Given the description of an element on the screen output the (x, y) to click on. 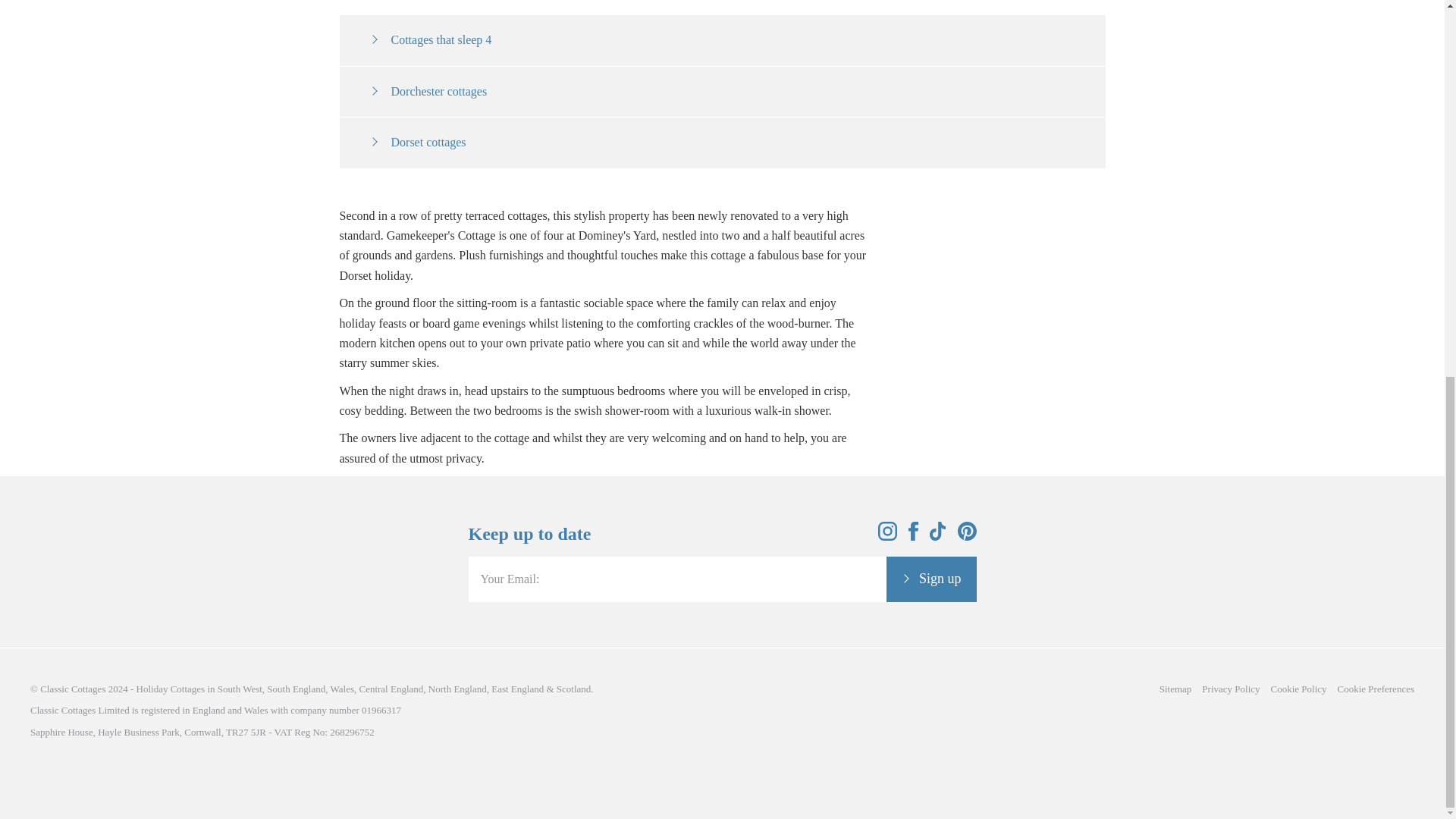
Follow Classic Cottages Pinterest (965, 535)
Follow Classic Cottages Tik Tok (938, 535)
North England (457, 688)
South West (239, 688)
Cottages that sleep 4 (430, 39)
Classic Cottages (72, 688)
Wales (341, 688)
Dorset cottages (417, 141)
Follow Classic Cottages Instagram (886, 535)
Dorchester cottages (428, 91)
